Given the description of an element on the screen output the (x, y) to click on. 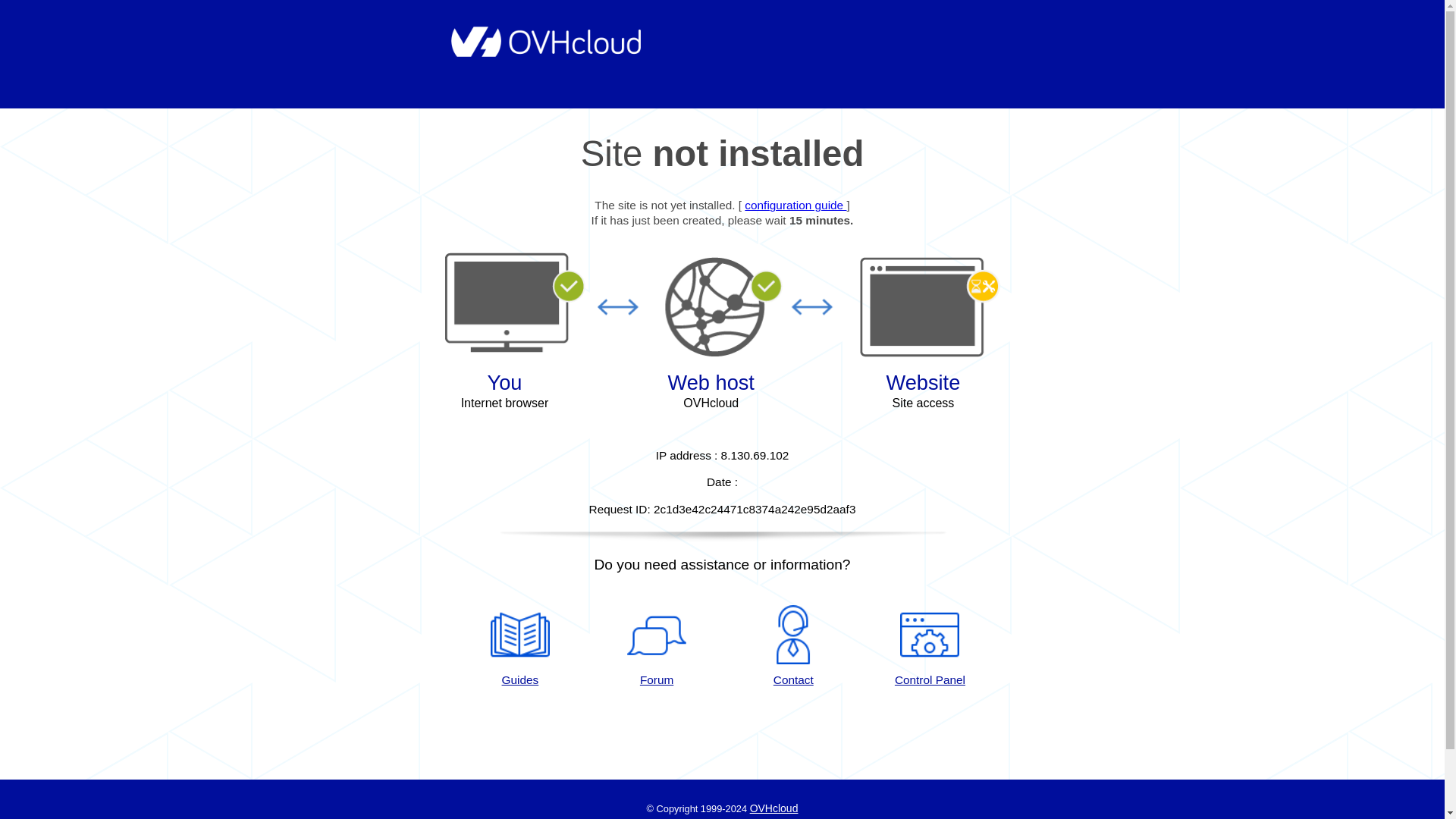
Guides (519, 646)
Forum (656, 646)
configuration guide (794, 205)
OVHcloud (773, 808)
Control Panel (930, 646)
Control Panel (930, 646)
Guides (519, 646)
Contact (793, 646)
Forum (656, 646)
Contact (793, 646)
Guides (794, 205)
